Given the description of an element on the screen output the (x, y) to click on. 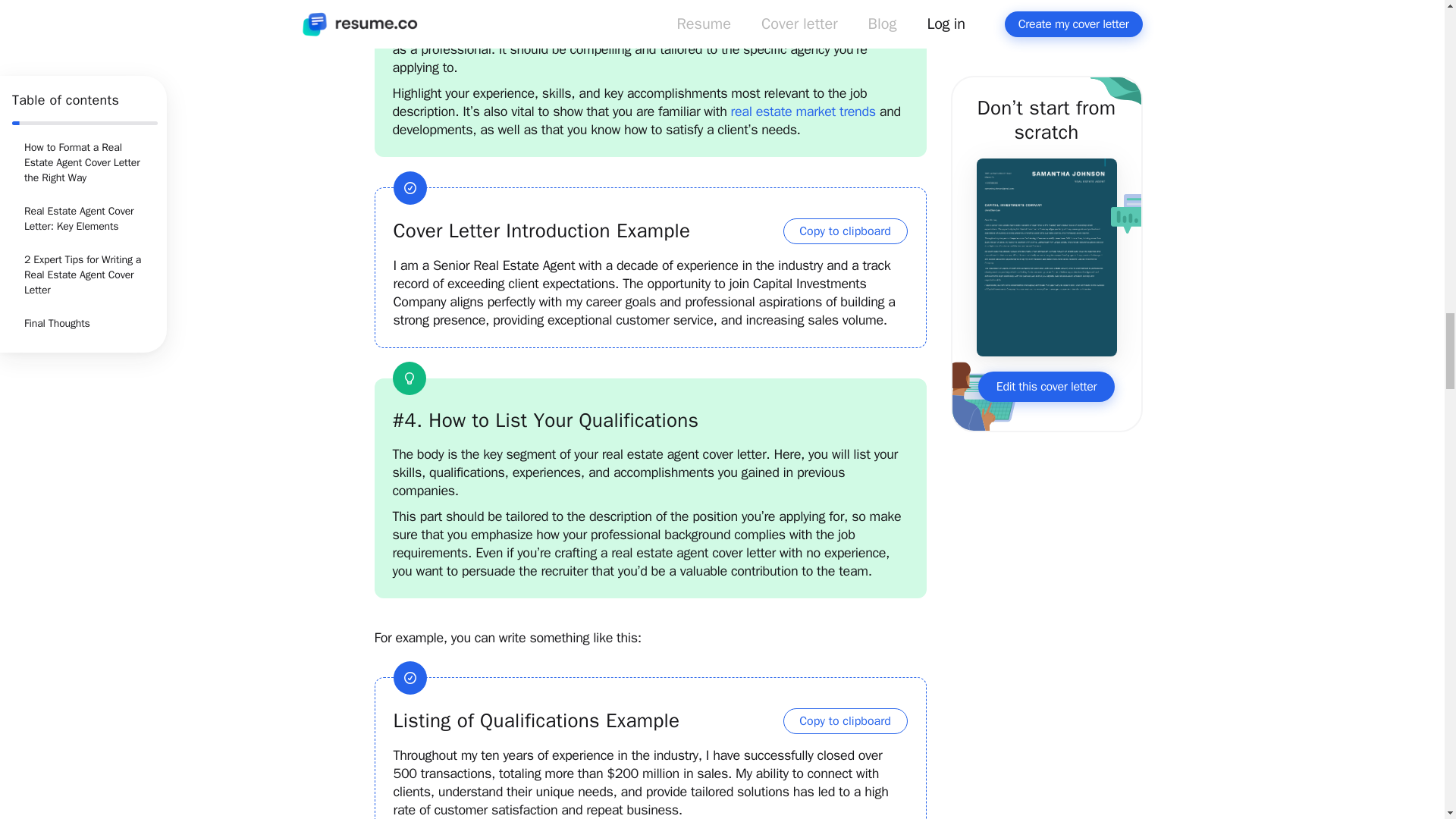
Copy to clipboard (845, 231)
Copy to clipboard (845, 720)
real estate market trends (803, 111)
